Given the description of an element on the screen output the (x, y) to click on. 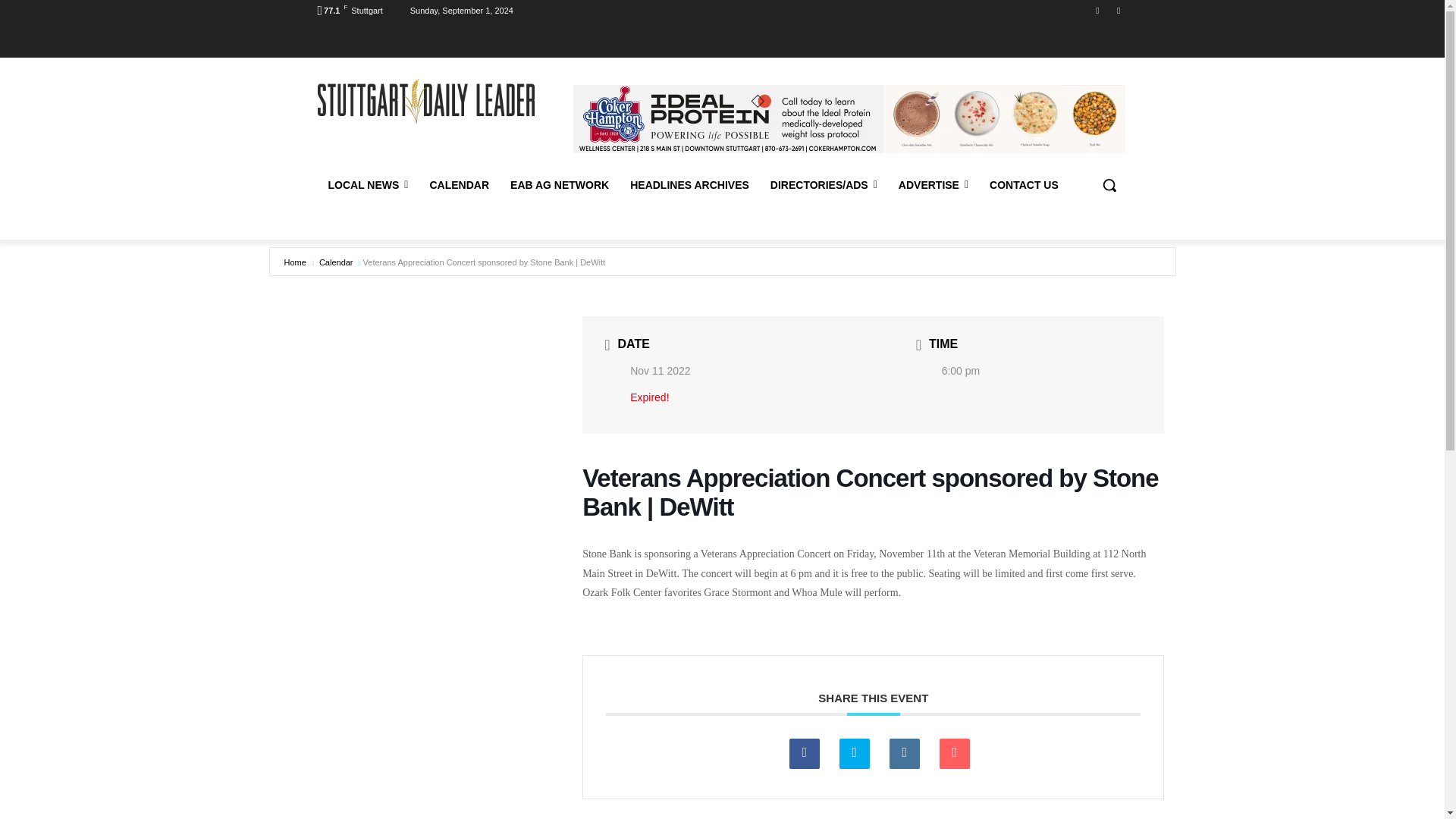
LOCAL NEWS (368, 185)
Twitter (1117, 9)
Linkedin (904, 753)
Share on Facebook (804, 753)
Tweet (854, 753)
Facebook (1097, 9)
Email (954, 753)
